Given the description of an element on the screen output the (x, y) to click on. 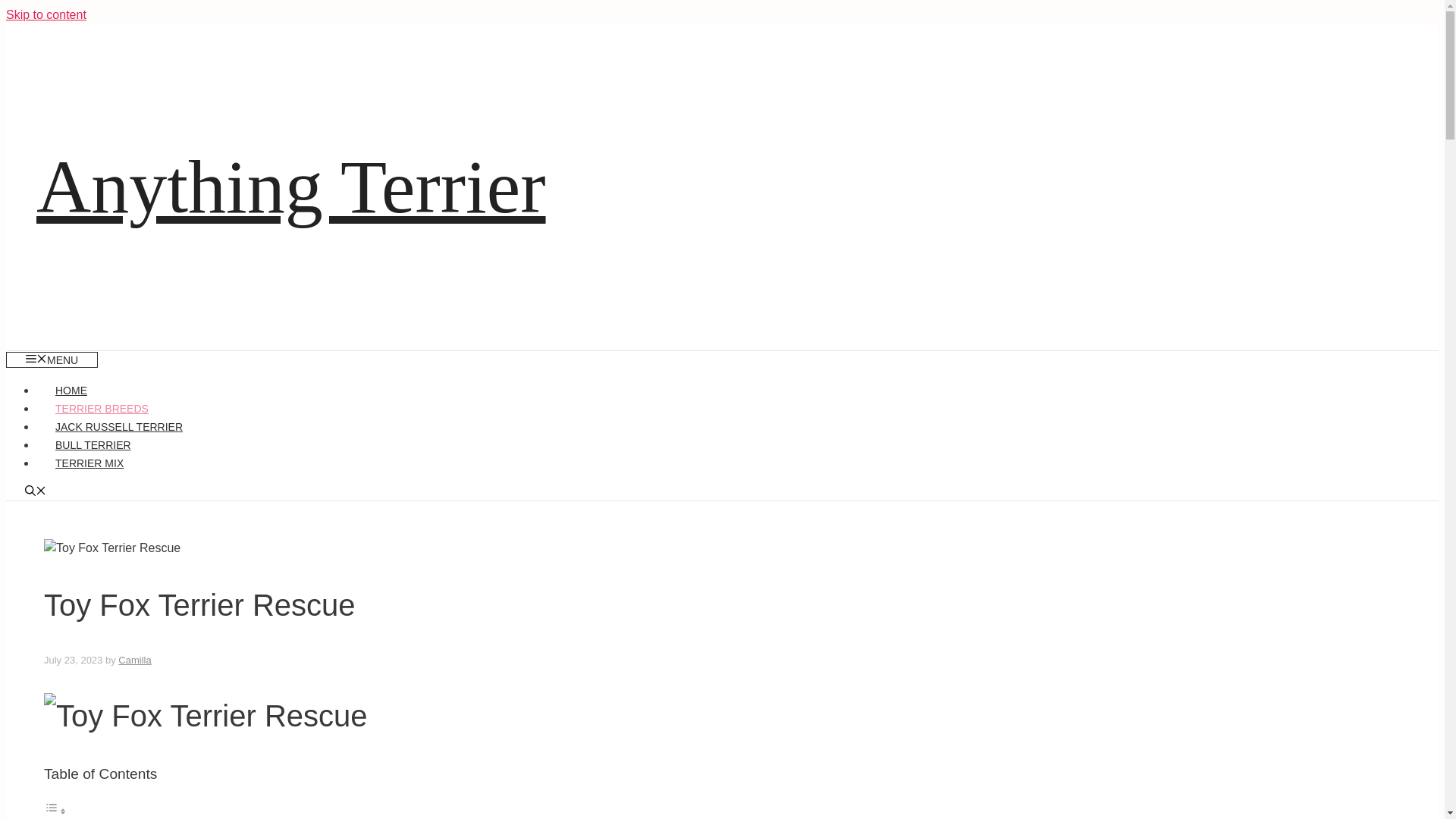
TERRIER BREEDS (101, 408)
View all posts by Camilla (134, 659)
Skip to content (45, 14)
Skip to content (45, 14)
HOME (71, 390)
MENU (51, 359)
Camilla (134, 659)
TERRIER MIX (89, 463)
JACK RUSSELL TERRIER (119, 426)
BULL TERRIER (92, 444)
Anything Terrier (291, 186)
